Given the description of an element on the screen output the (x, y) to click on. 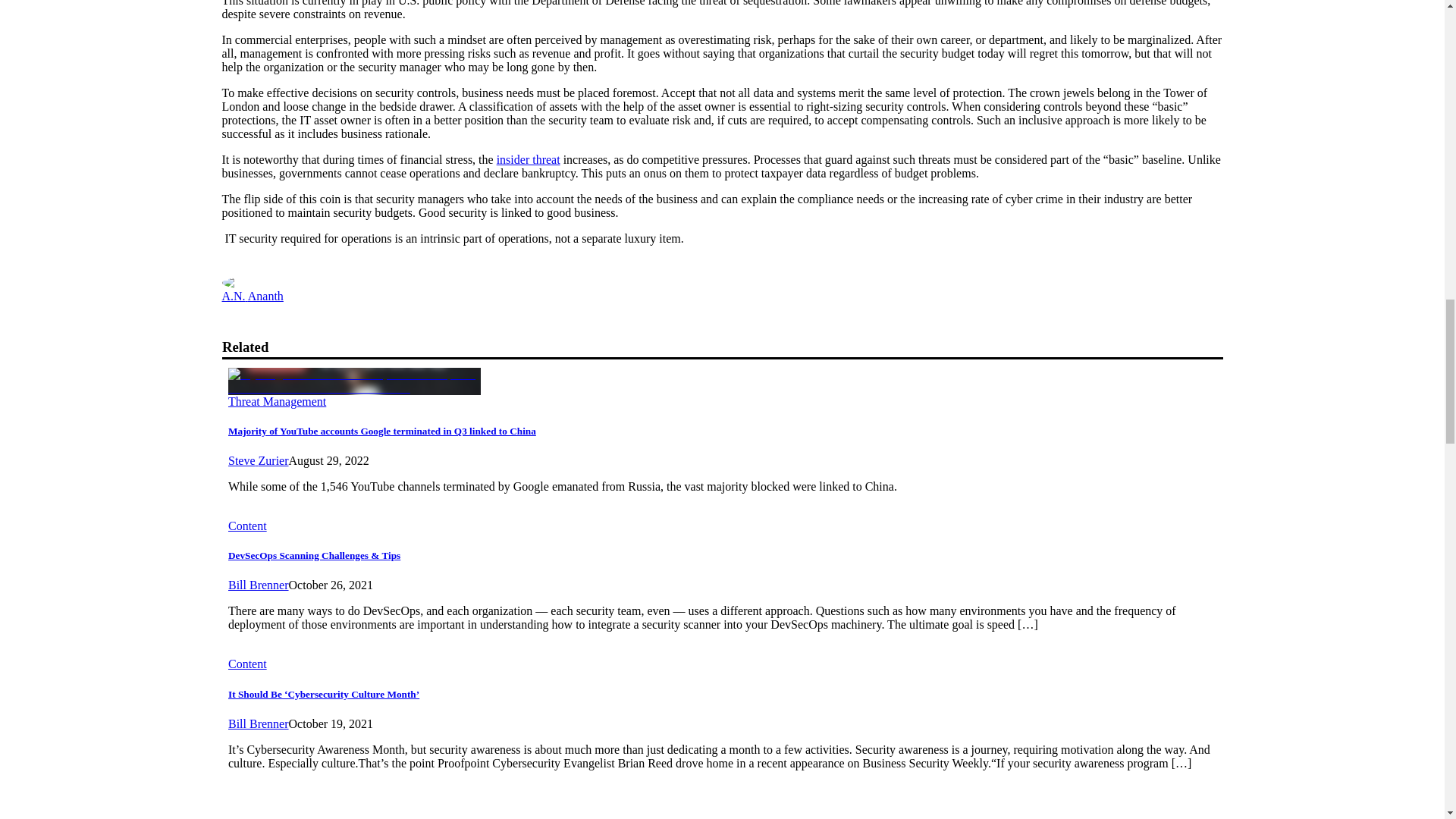
Content (246, 525)
insider threat (528, 159)
Threat Management (275, 400)
Bill Brenner (257, 584)
A.N. Ananth (251, 295)
Content (246, 663)
Steve Zurier (257, 460)
Bill Brenner (257, 723)
